Given the description of an element on the screen output the (x, y) to click on. 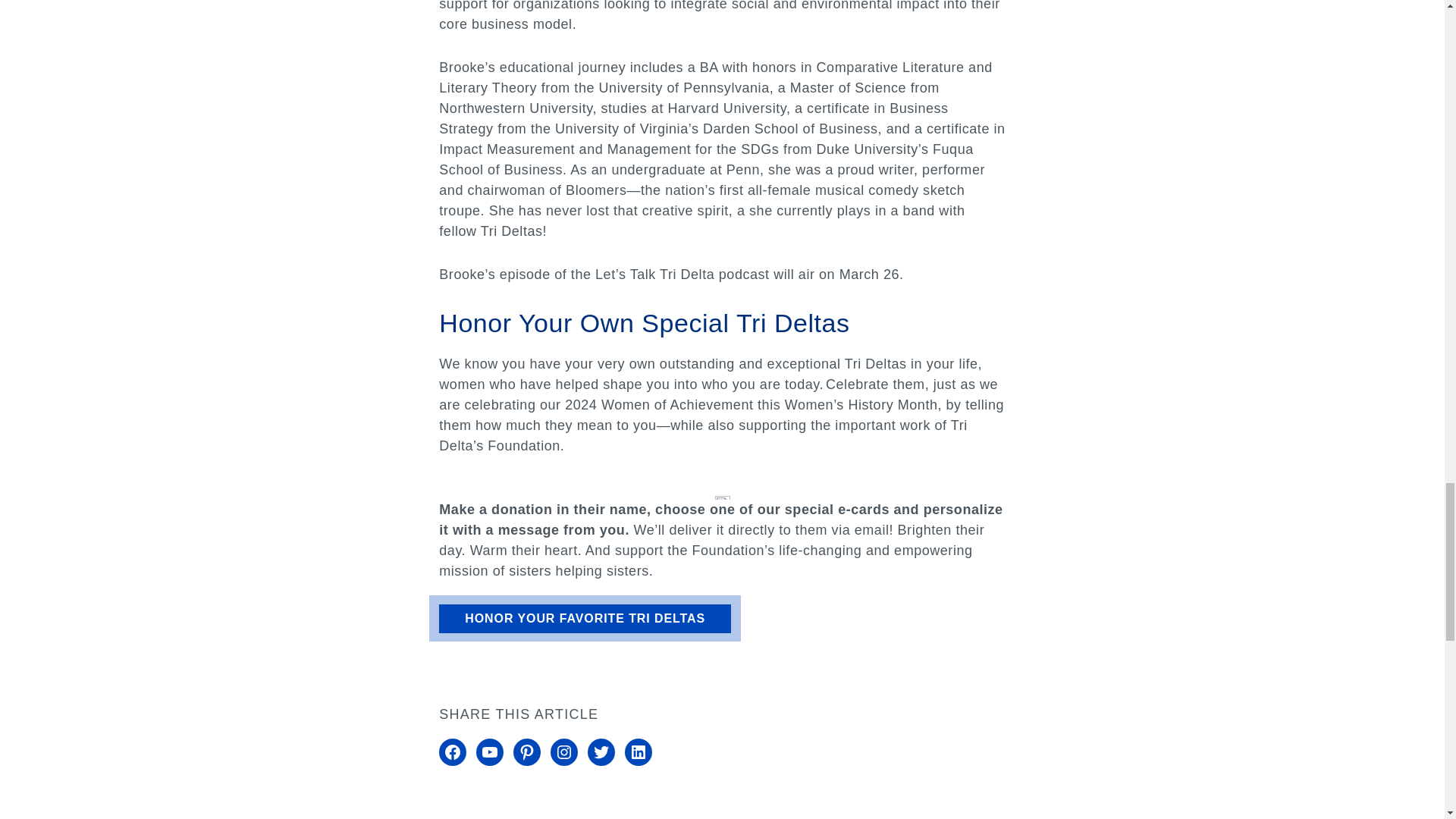
LinkedIn (638, 751)
Facebook (452, 751)
Pinterest (526, 751)
You Tube (489, 751)
Twitter (601, 751)
Instagram (564, 751)
